Given the description of an element on the screen output the (x, y) to click on. 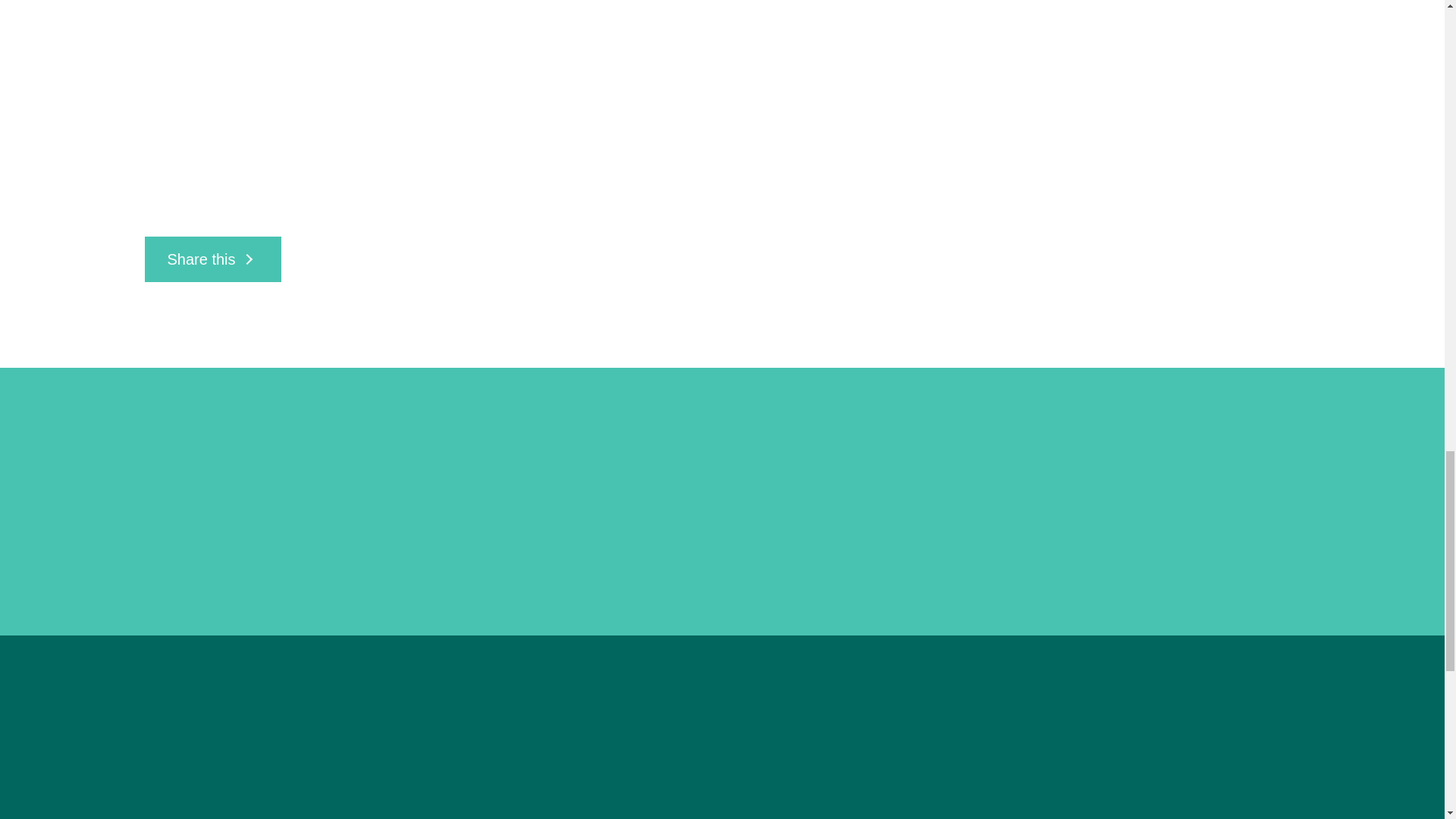
Share this (212, 258)
